Given the description of an element on the screen output the (x, y) to click on. 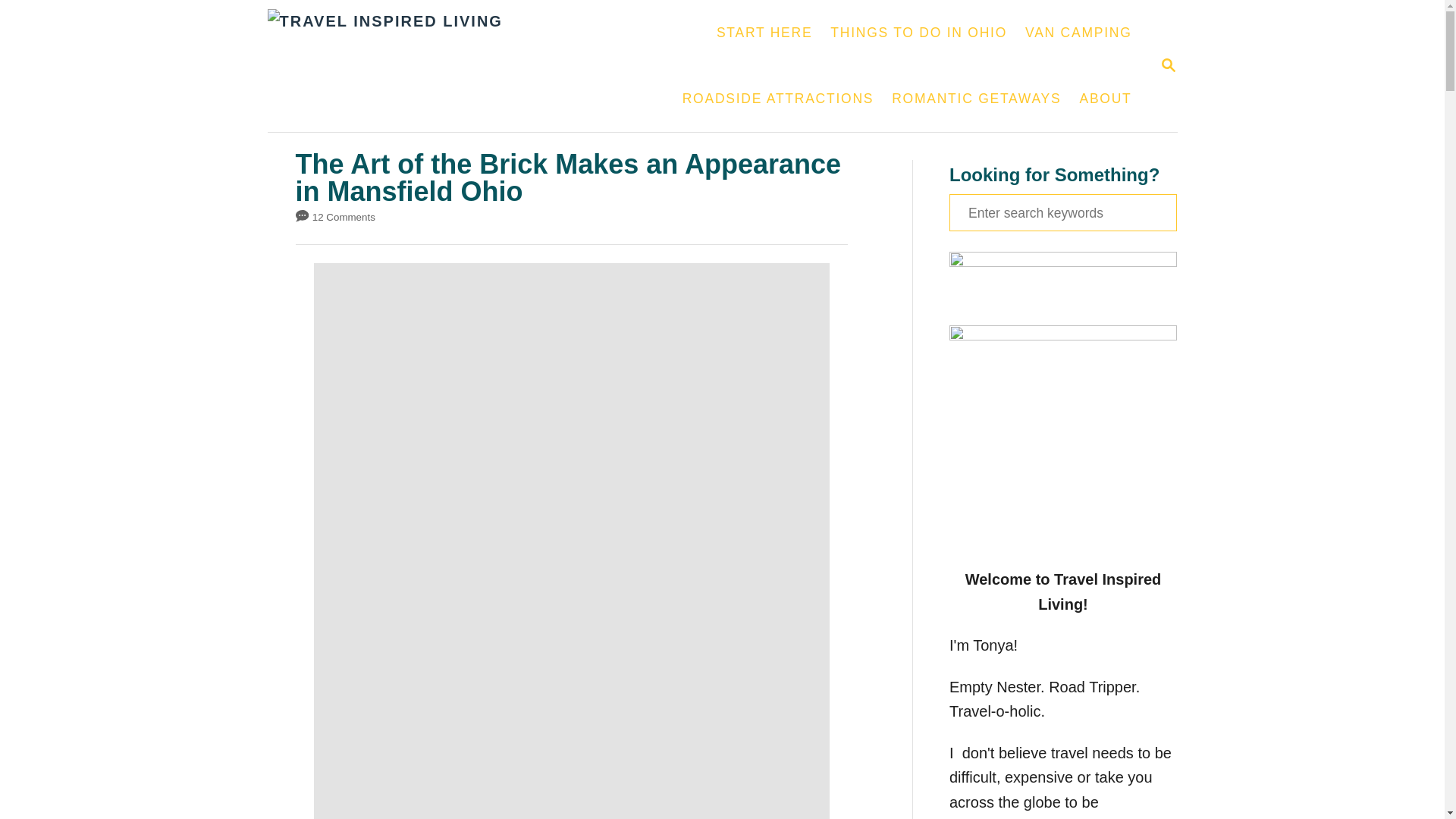
VAN CAMPING (1167, 65)
Search for: (1078, 32)
Travel Inspired Living (1062, 212)
romantic getaways (457, 65)
THINGS TO DO IN OHIO (976, 99)
ABOUT (918, 32)
ROMANTIC GETAWAYS (1105, 99)
ROADSIDE ATTRACTIONS (976, 99)
START HERE (777, 99)
MAGNIFYING GLASS (764, 32)
Search (1167, 65)
